Given the description of an element on the screen output the (x, y) to click on. 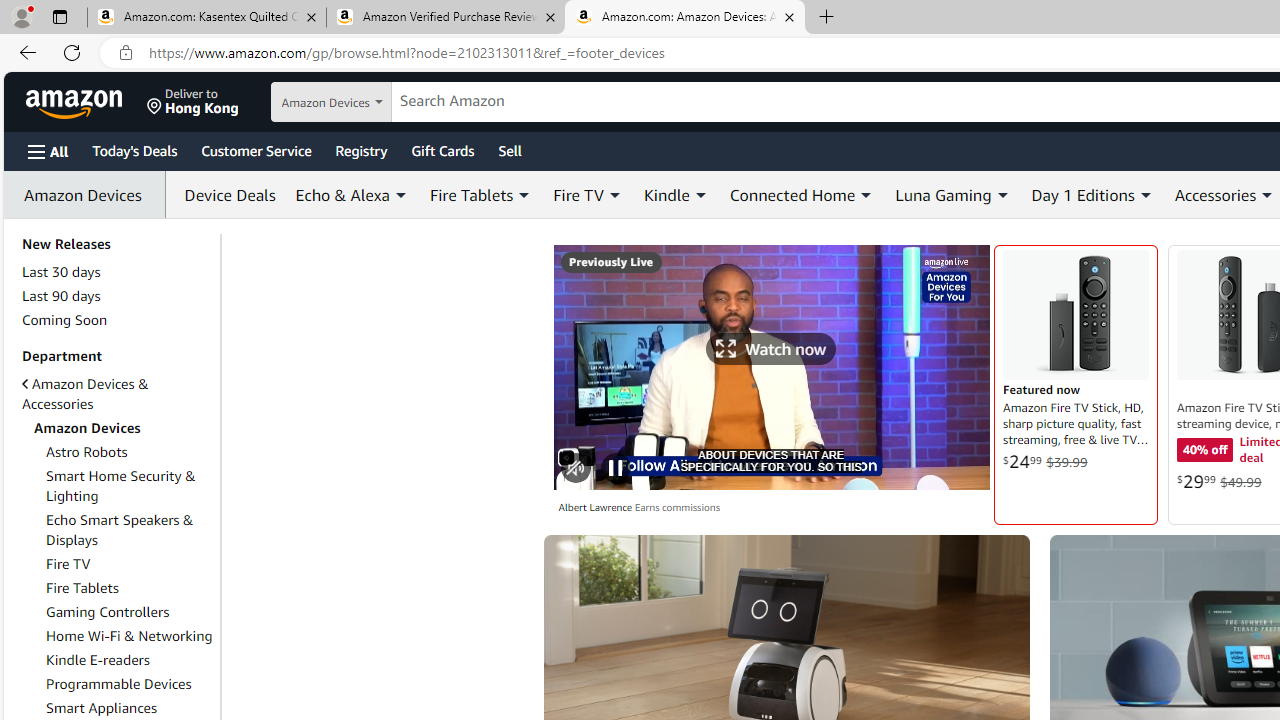
Pause (615, 467)
Accessories (1214, 194)
Home Wi-Fi & Networking (129, 635)
Echo & Alexa (342, 194)
Kindle (665, 194)
Smart Appliances (101, 708)
Amazon (76, 101)
Expand Luna Gaming (1002, 195)
Fire TV (68, 564)
Expand Kindle (700, 195)
Last 90 days (61, 296)
Coming Soon (64, 320)
Fire Tablets (129, 588)
